Given the description of an element on the screen output the (x, y) to click on. 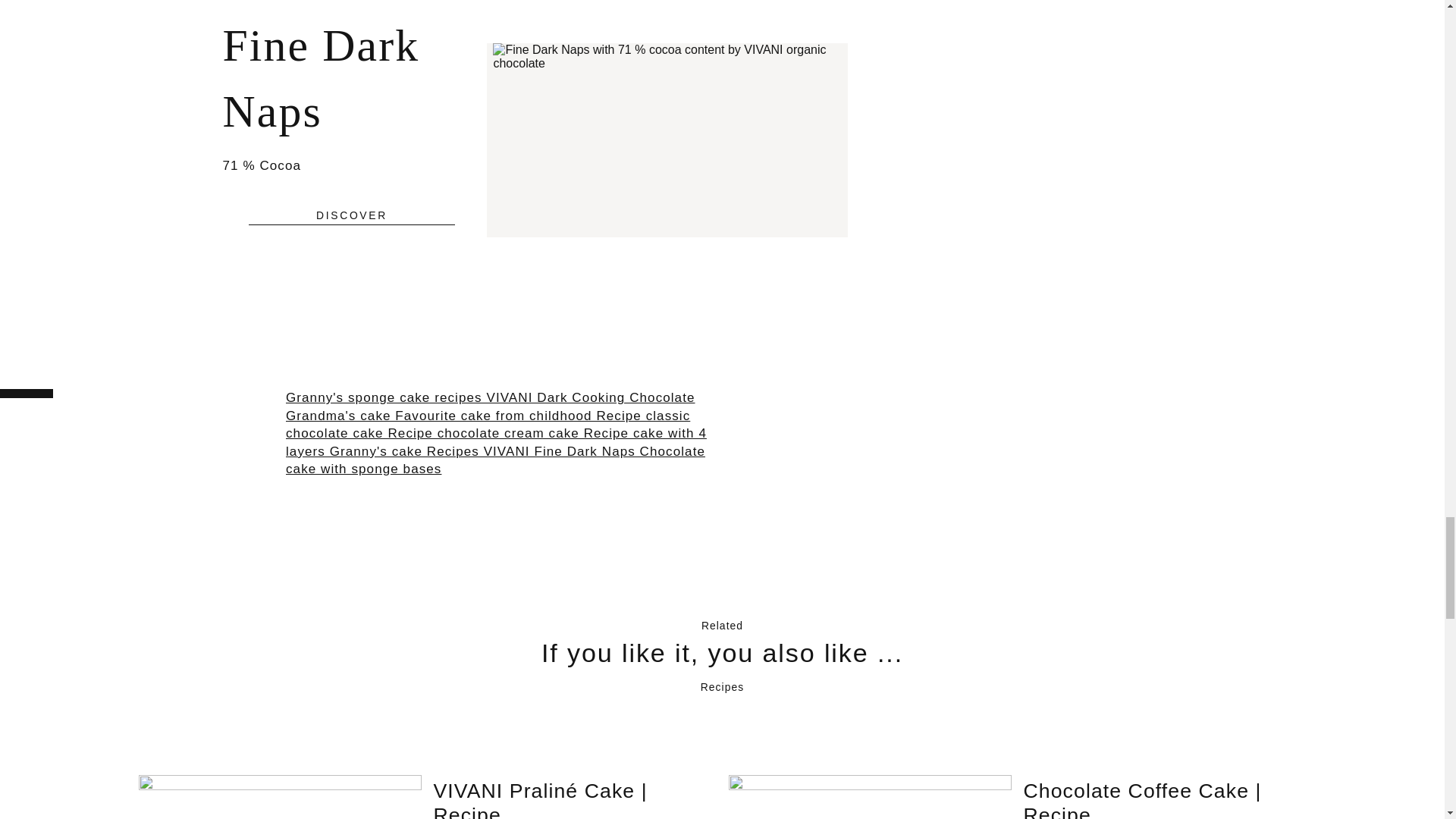
napolitains-fine-dark-71-percent-vivani-organic-chocolate (667, 57)
